Given the description of an element on the screen output the (x, y) to click on. 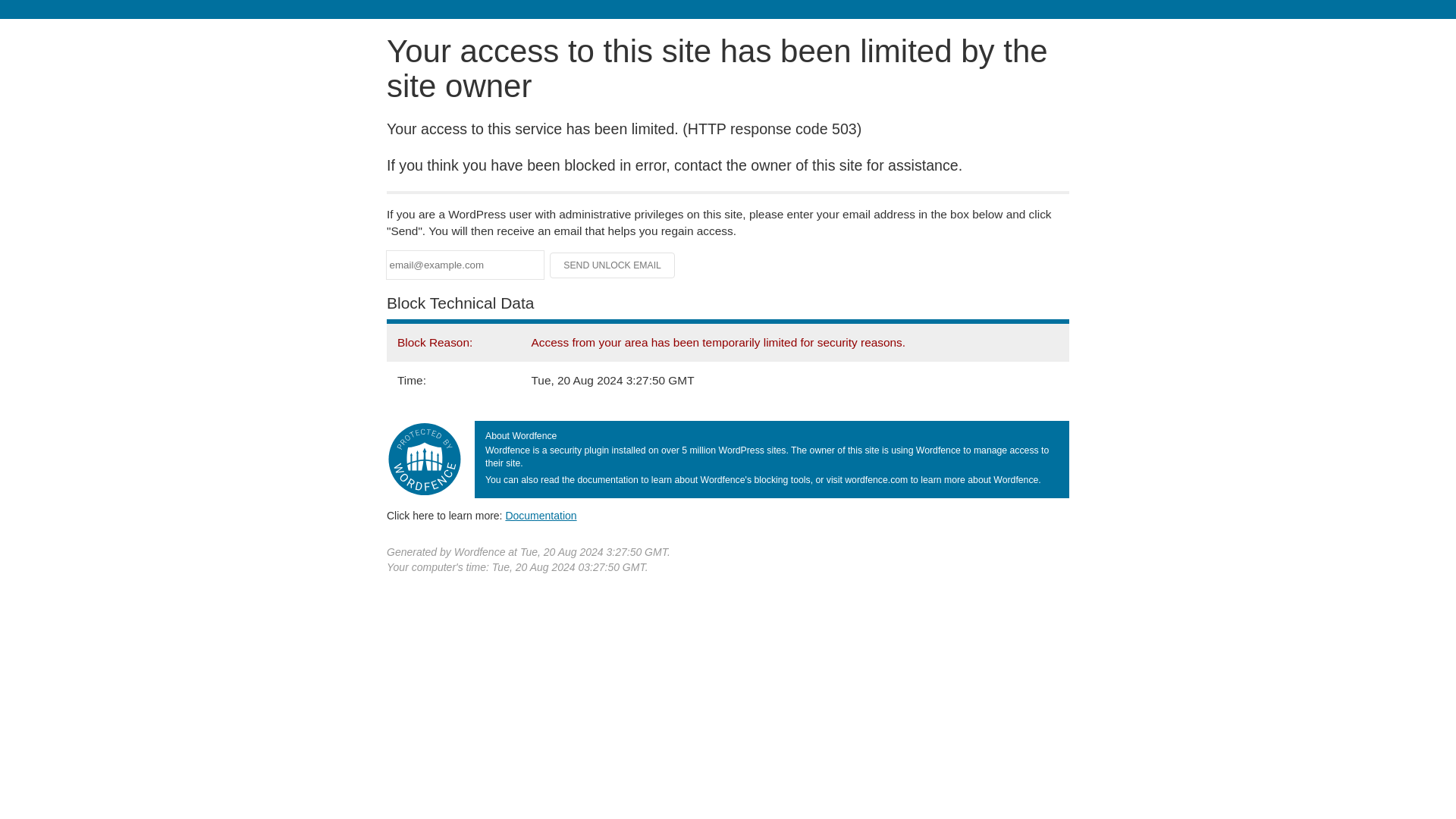
Send Unlock Email (612, 265)
Documentation (540, 515)
Send Unlock Email (612, 265)
